Given the description of an element on the screen output the (x, y) to click on. 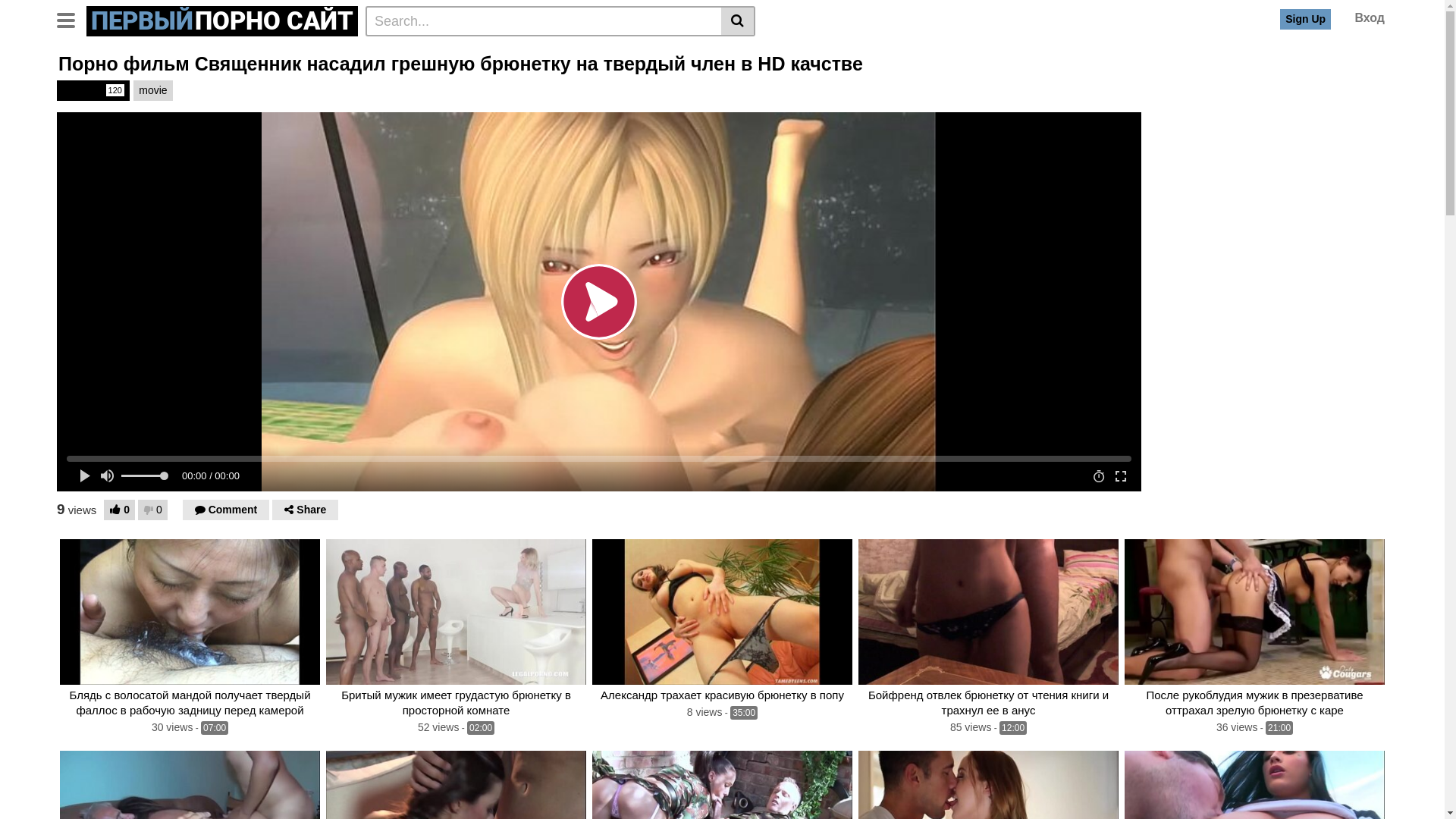
movie Element type: text (152, 90)
Sign Up Element type: text (1305, 19)
0 Element type: text (152, 509)
Comment Element type: text (225, 509)
Share Element type: text (305, 509)
0 Element type: text (118, 509)
I dislike this Element type: hover (148, 509)
